Given the description of an element on the screen output the (x, y) to click on. 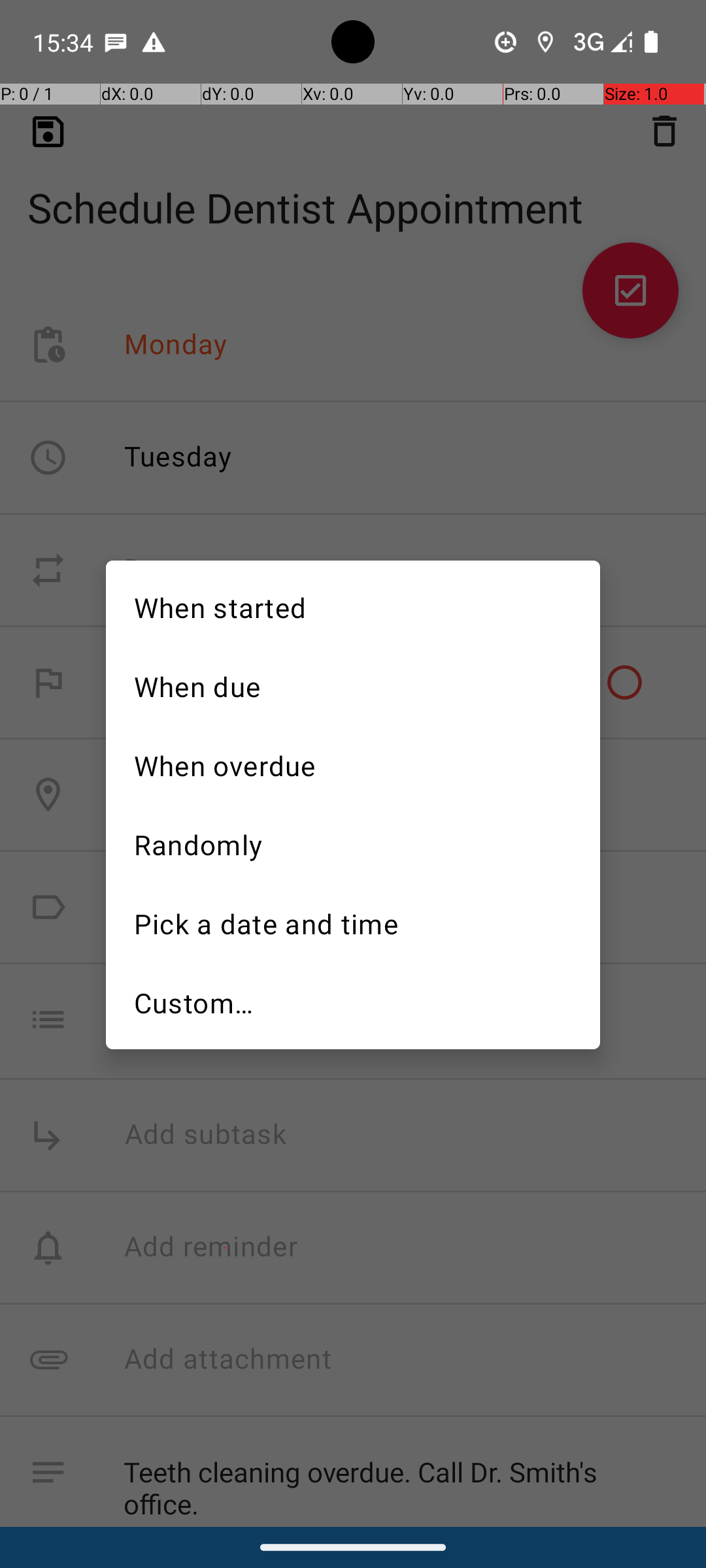
When started Element type: android.widget.TextView (352, 605)
When due Element type: android.widget.TextView (352, 684)
When overdue Element type: android.widget.TextView (352, 763)
Randomly Element type: android.widget.TextView (352, 842)
Pick a date and time Element type: android.widget.TextView (352, 921)
Custom… Element type: android.widget.TextView (352, 1002)
